Given the description of an element on the screen output the (x, y) to click on. 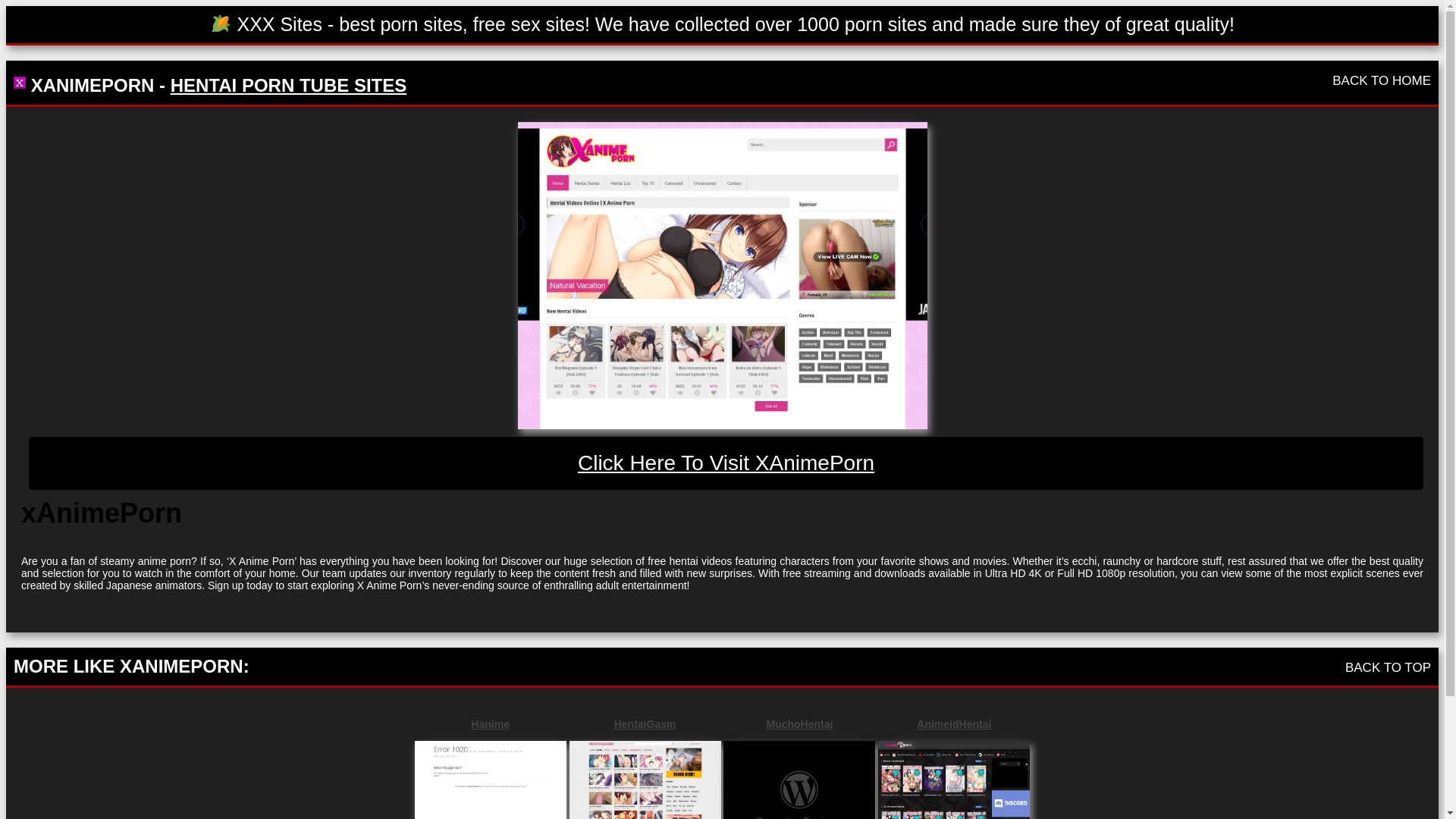
HENTAI PORN TUBE SITES (288, 85)
xAnimePorn (726, 462)
xAnimePorn (721, 275)
MuchoHentai (799, 724)
Click Here To Visit XAnimePorn (726, 462)
BACK TO TOP (1388, 667)
HentaiGasm (644, 724)
AnimeidHentai (953, 724)
Hanime (490, 724)
BACK TO HOME (1381, 80)
